Given the description of an element on the screen output the (x, y) to click on. 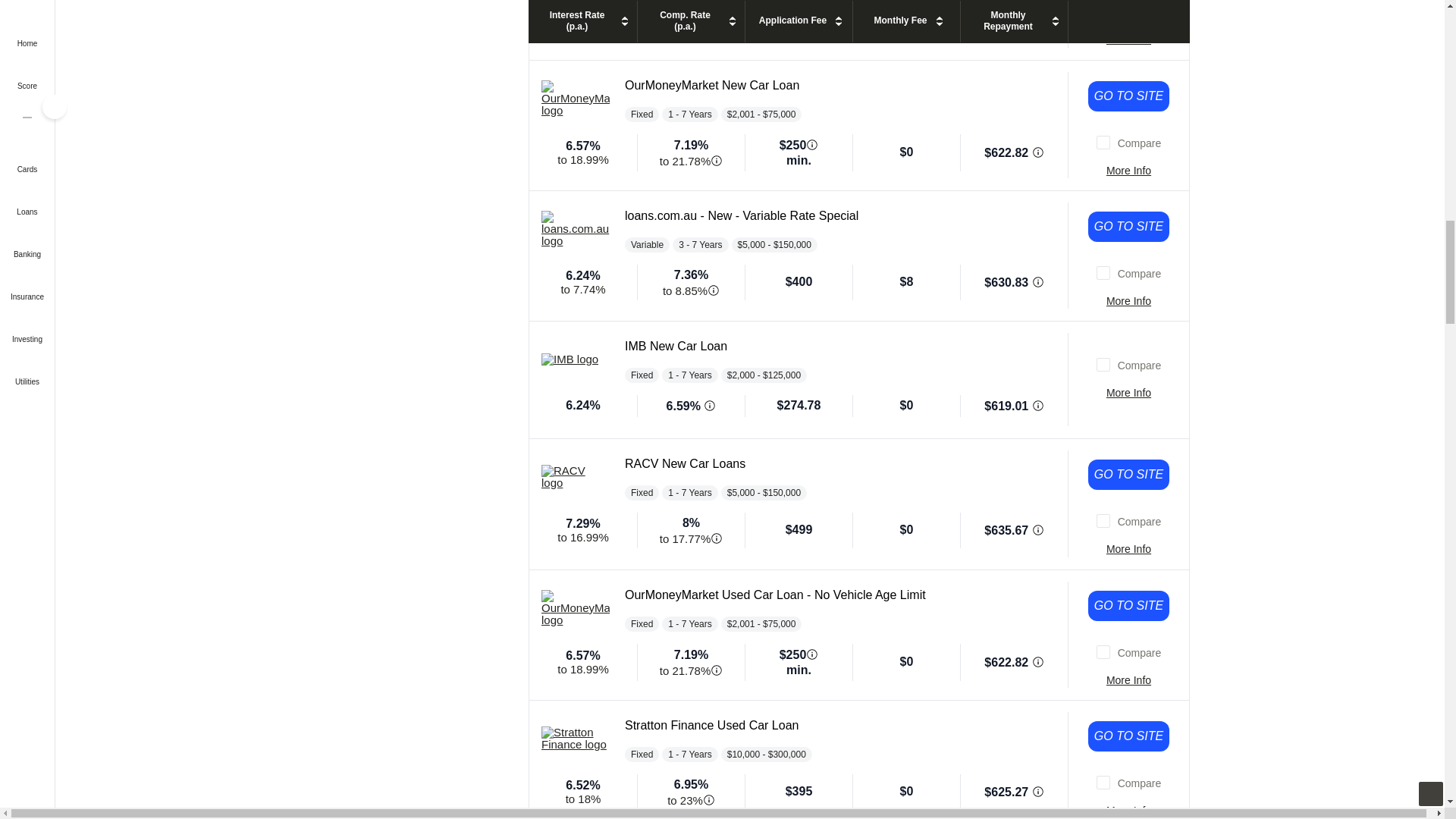
Read More About The Stratton Finance New Car Loan (1128, 38)
Read More About The OurMoneyMarket New Car Loan (1128, 170)
Apply Now For The OurMoneyMarket New Car Loan (1128, 96)
Read More About The IMB New Car Loan (1128, 392)
Apply Now For The loans.com.au - New - Variable Rate Special (1128, 226)
